Given the description of an element on the screen output the (x, y) to click on. 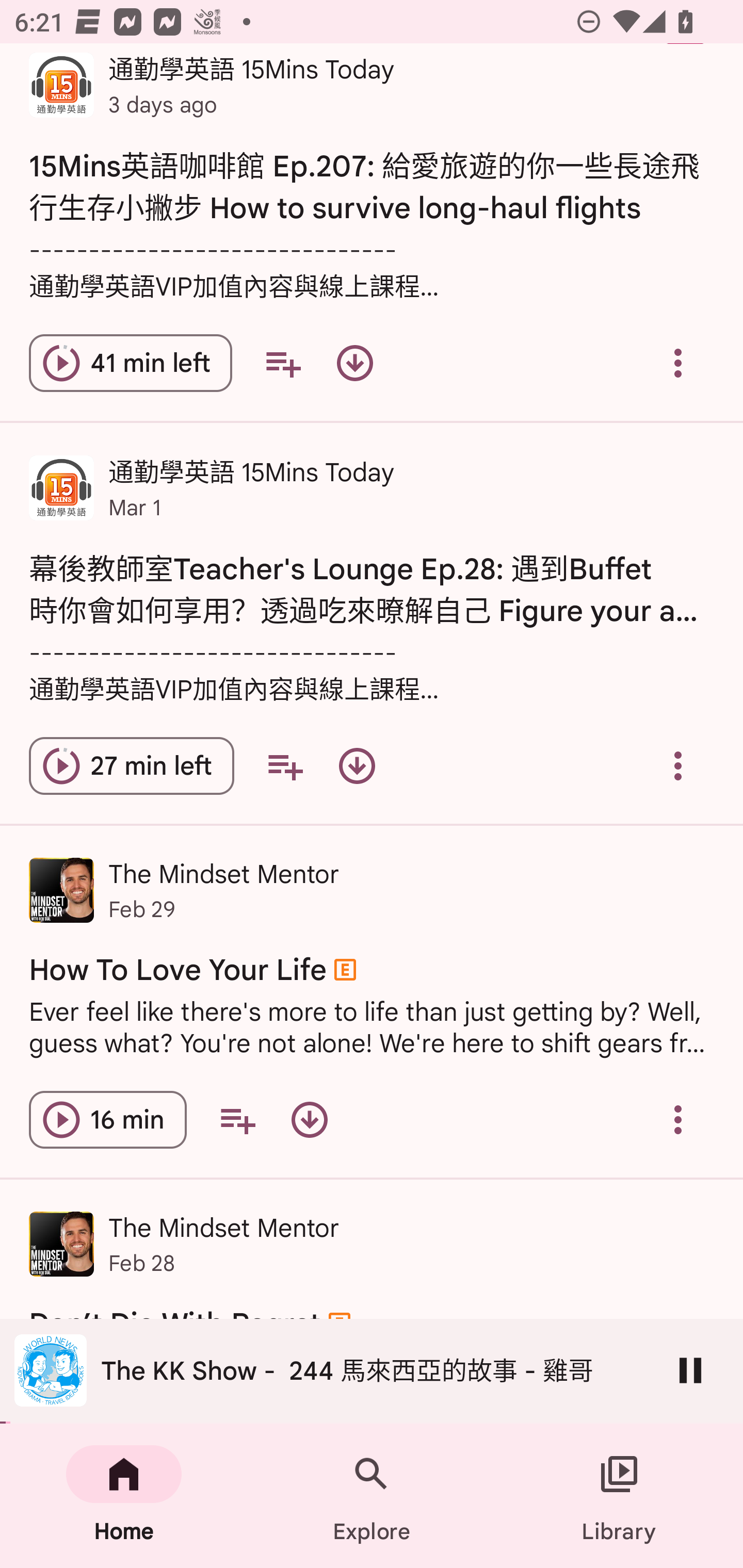
Add to your queue (282, 362)
Download episode (354, 362)
Overflow menu (677, 362)
Add to your queue (284, 765)
Download episode (356, 765)
Overflow menu (677, 765)
Play episode How To Love Your Life 16 min (107, 1120)
Add to your queue (237, 1120)
Download episode (309, 1120)
Overflow menu (677, 1120)
Pause (690, 1370)
Explore (371, 1495)
Library (619, 1495)
